Given the description of an element on the screen output the (x, y) to click on. 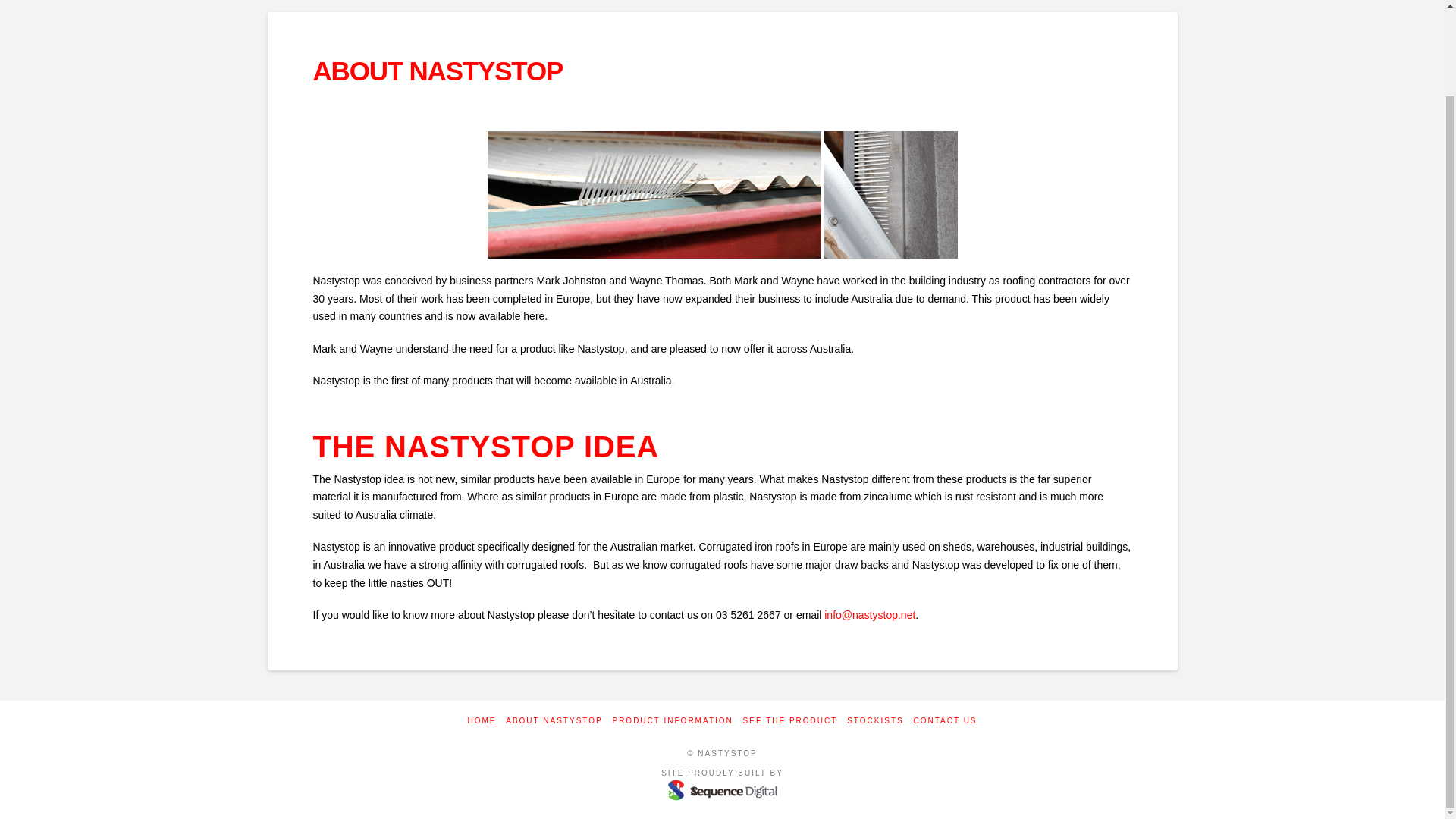
SEE THE PRODUCT (790, 720)
PRODUCT INFORMATION (671, 720)
STOCKISTS (875, 720)
ABOUT NASTYSTOP (553, 720)
HOME (481, 720)
CONTACT US (944, 720)
